Given the description of an element on the screen output the (x, y) to click on. 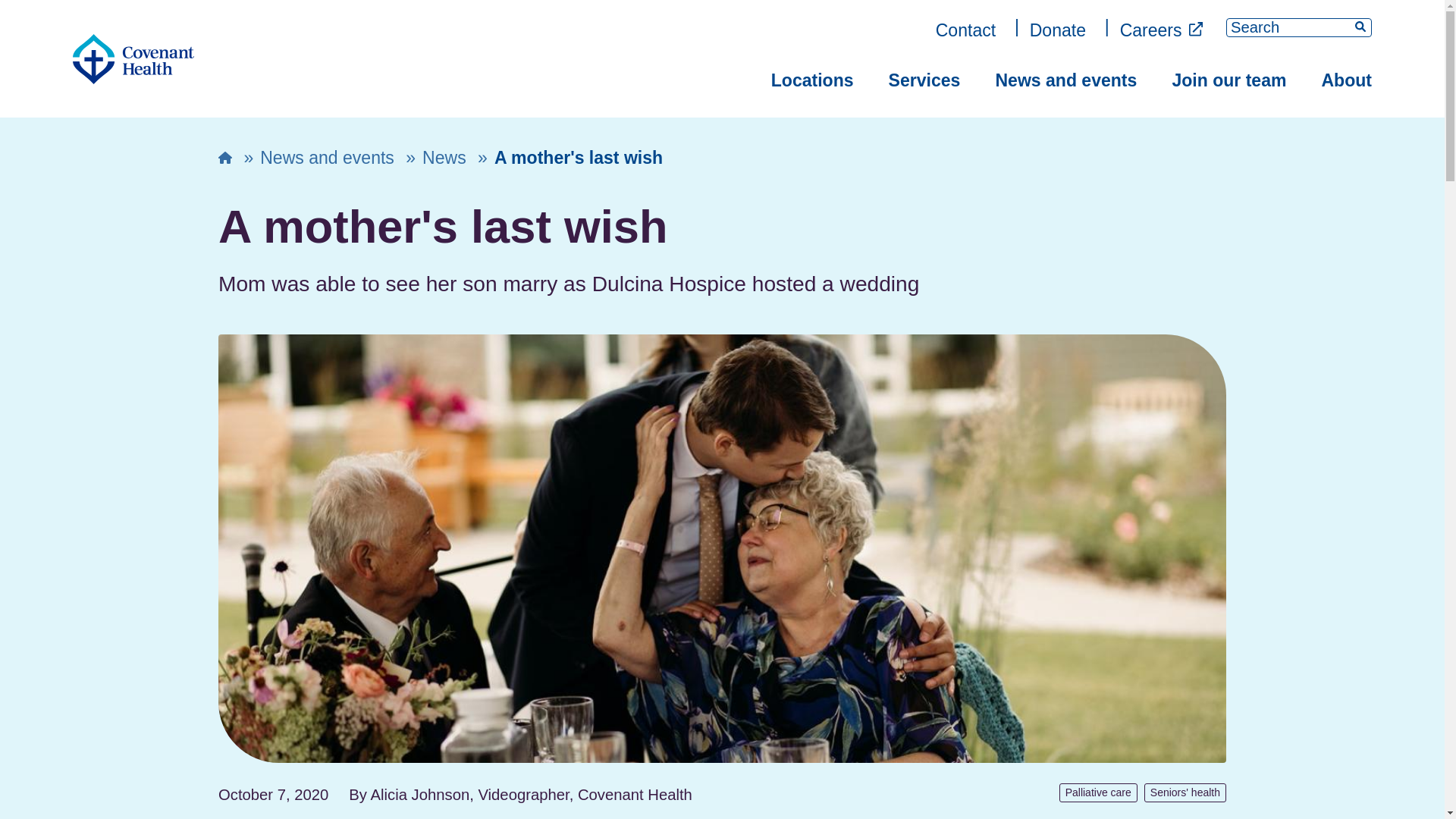
Locations (812, 80)
Locations (812, 80)
Contact Covenant Health (965, 30)
CareersExternal Link (1161, 30)
Home (132, 59)
Donate  (1057, 30)
Apply for a job (1161, 30)
External Link (1195, 29)
Services (924, 80)
Donate (1057, 30)
Contact (965, 30)
